Given the description of an element on the screen output the (x, y) to click on. 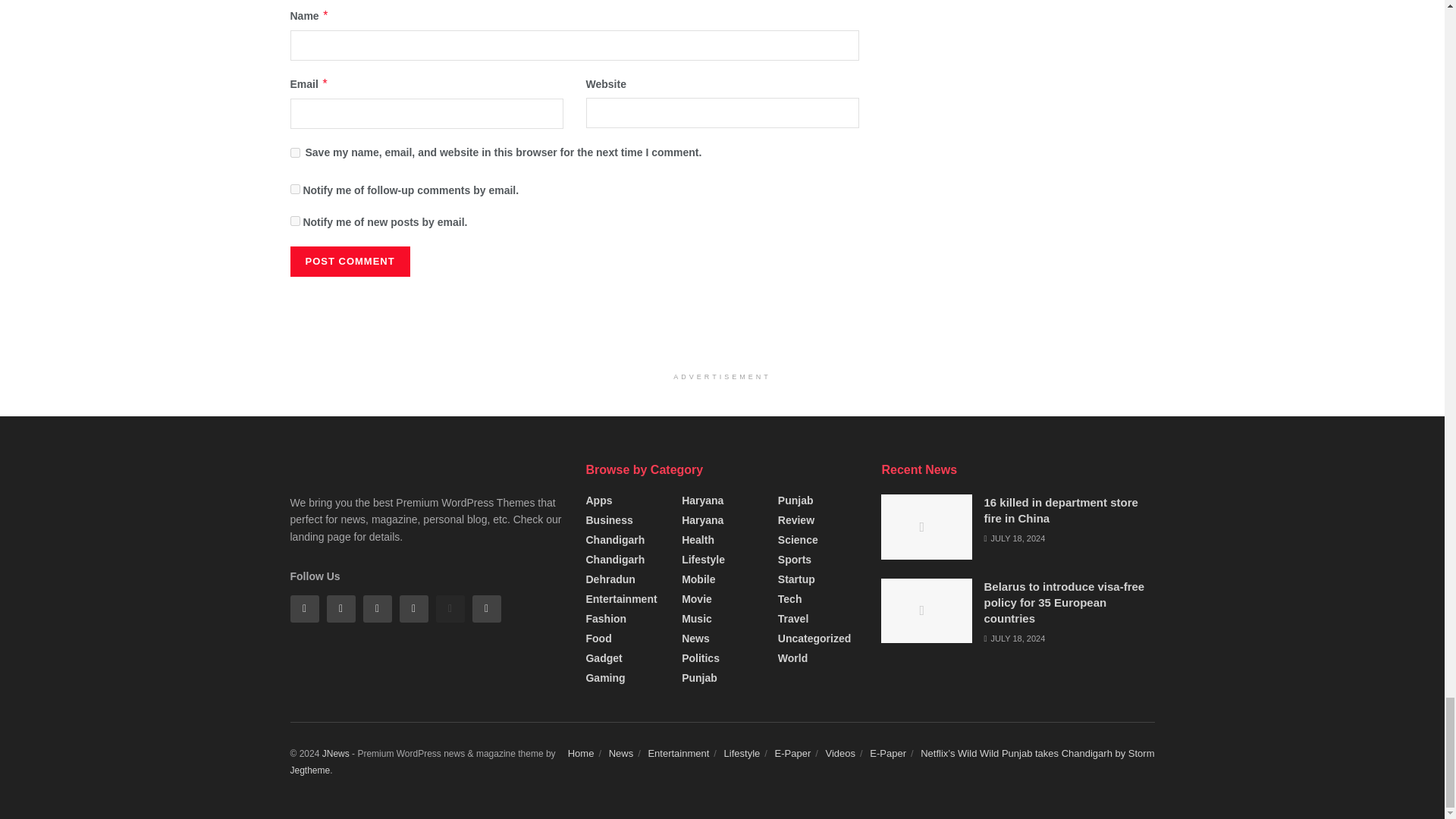
Post Comment (349, 261)
Jegtheme (309, 769)
subscribe (294, 221)
yes (294, 153)
subscribe (294, 189)
